Given the description of an element on the screen output the (x, y) to click on. 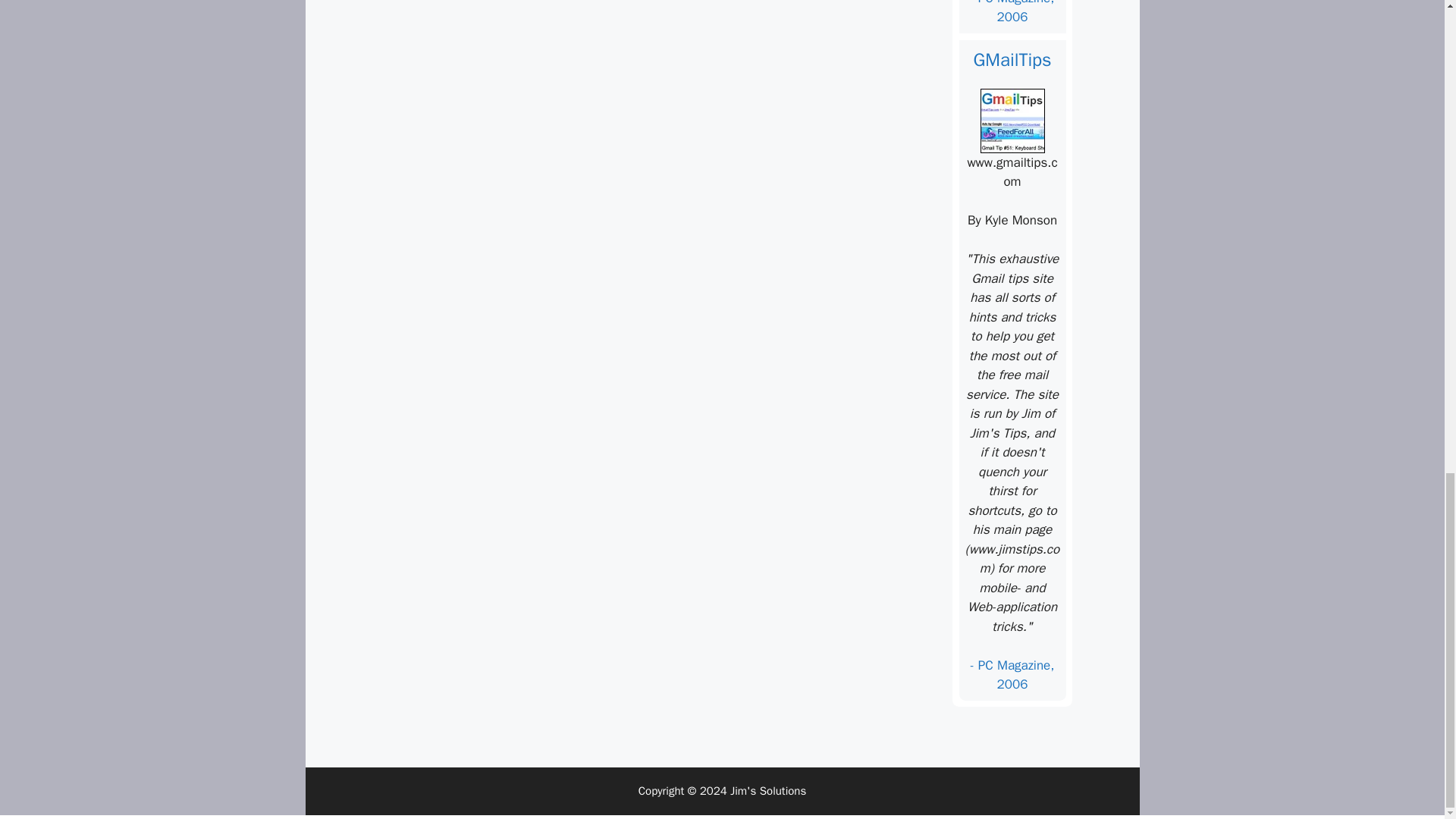
wayback-gmailtips.com (1011, 119)
Jim's Solutions (768, 790)
Scroll back to top (1406, 408)
